Given the description of an element on the screen output the (x, y) to click on. 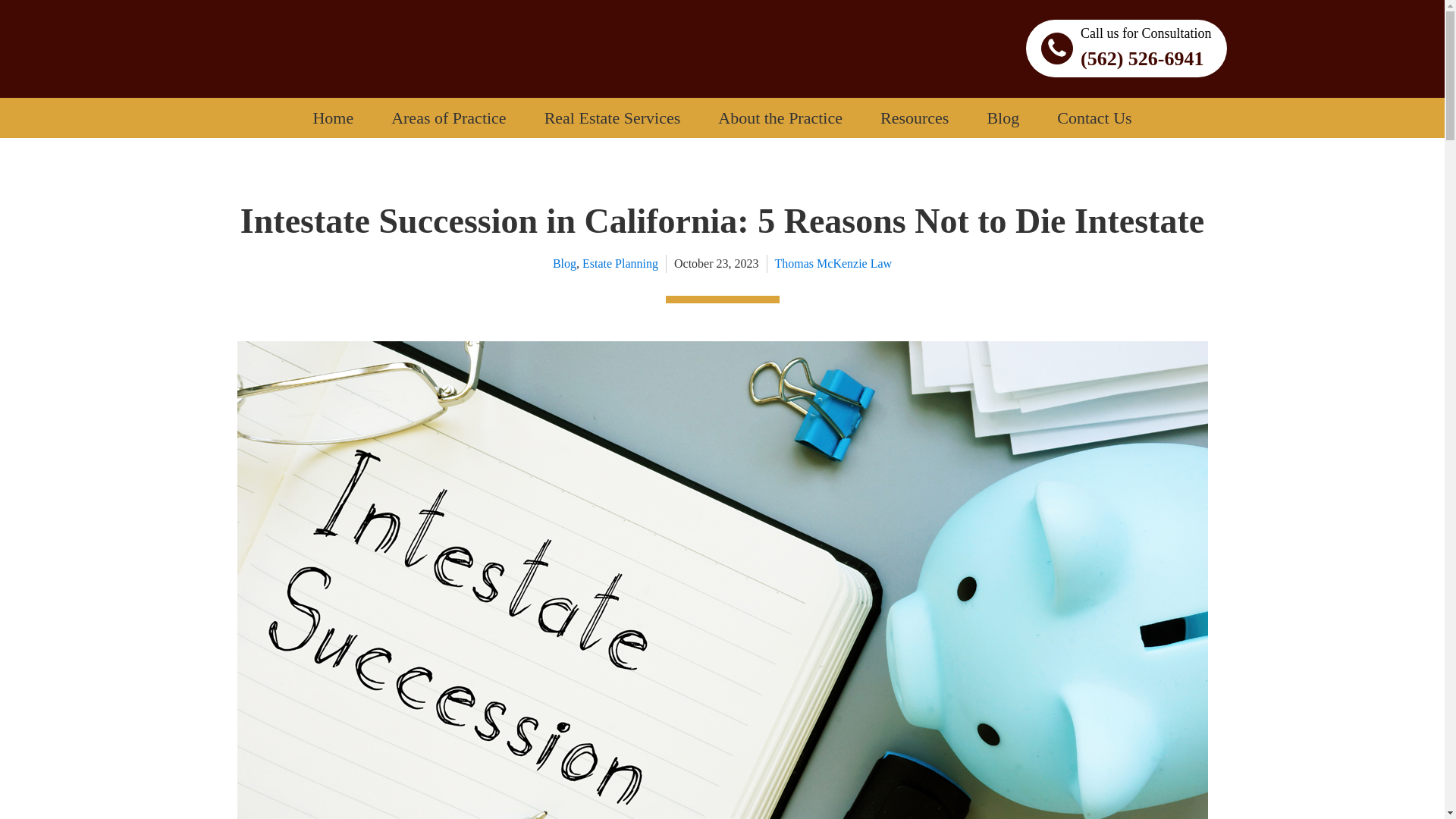
About the Practice (779, 117)
Resources (914, 117)
Blog (1003, 117)
Areas of Practice (448, 117)
Home (333, 117)
Real Estate Services (612, 117)
